Given the description of an element on the screen output the (x, y) to click on. 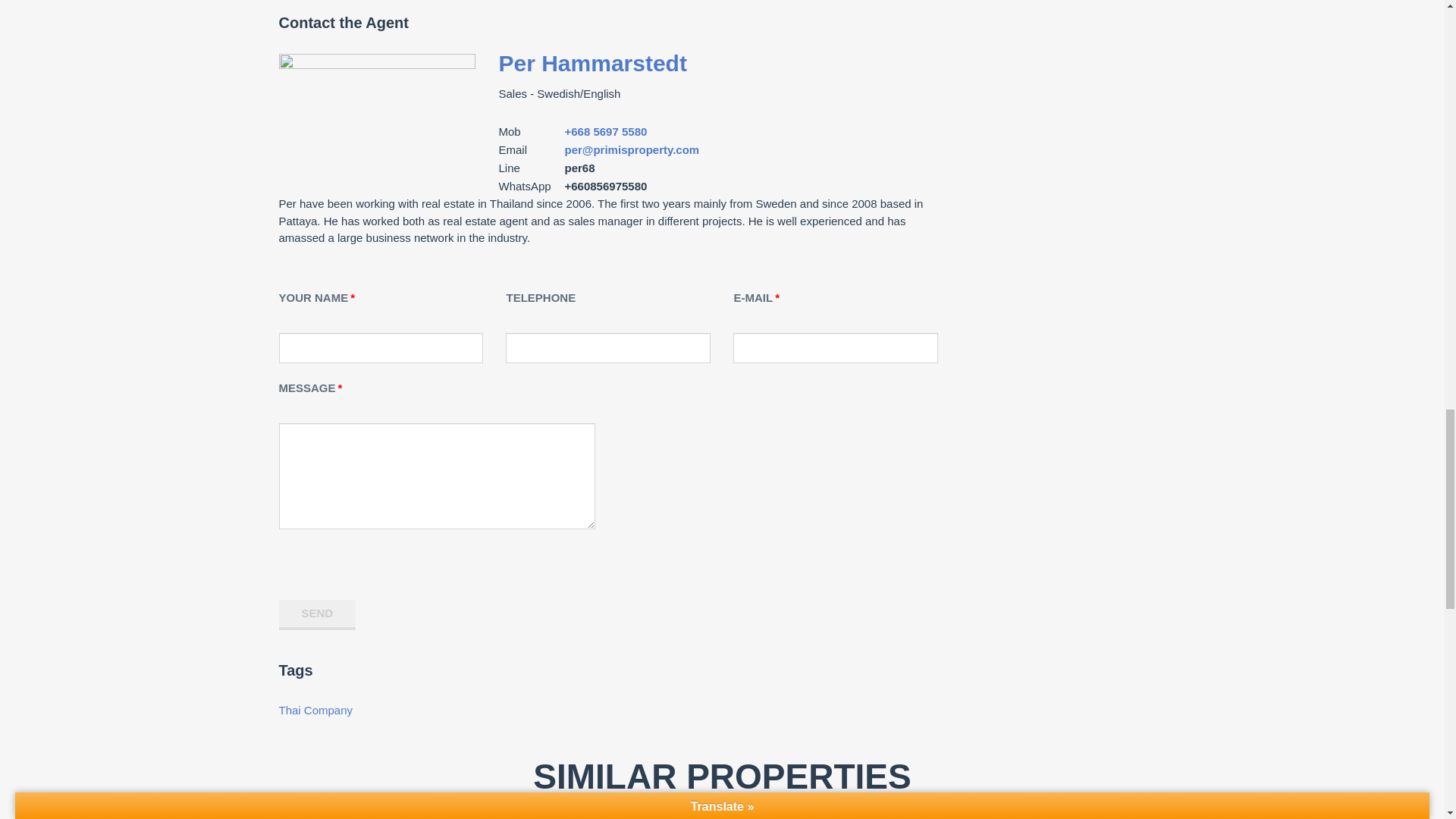
Send (317, 614)
